Given the description of an element on the screen output the (x, y) to click on. 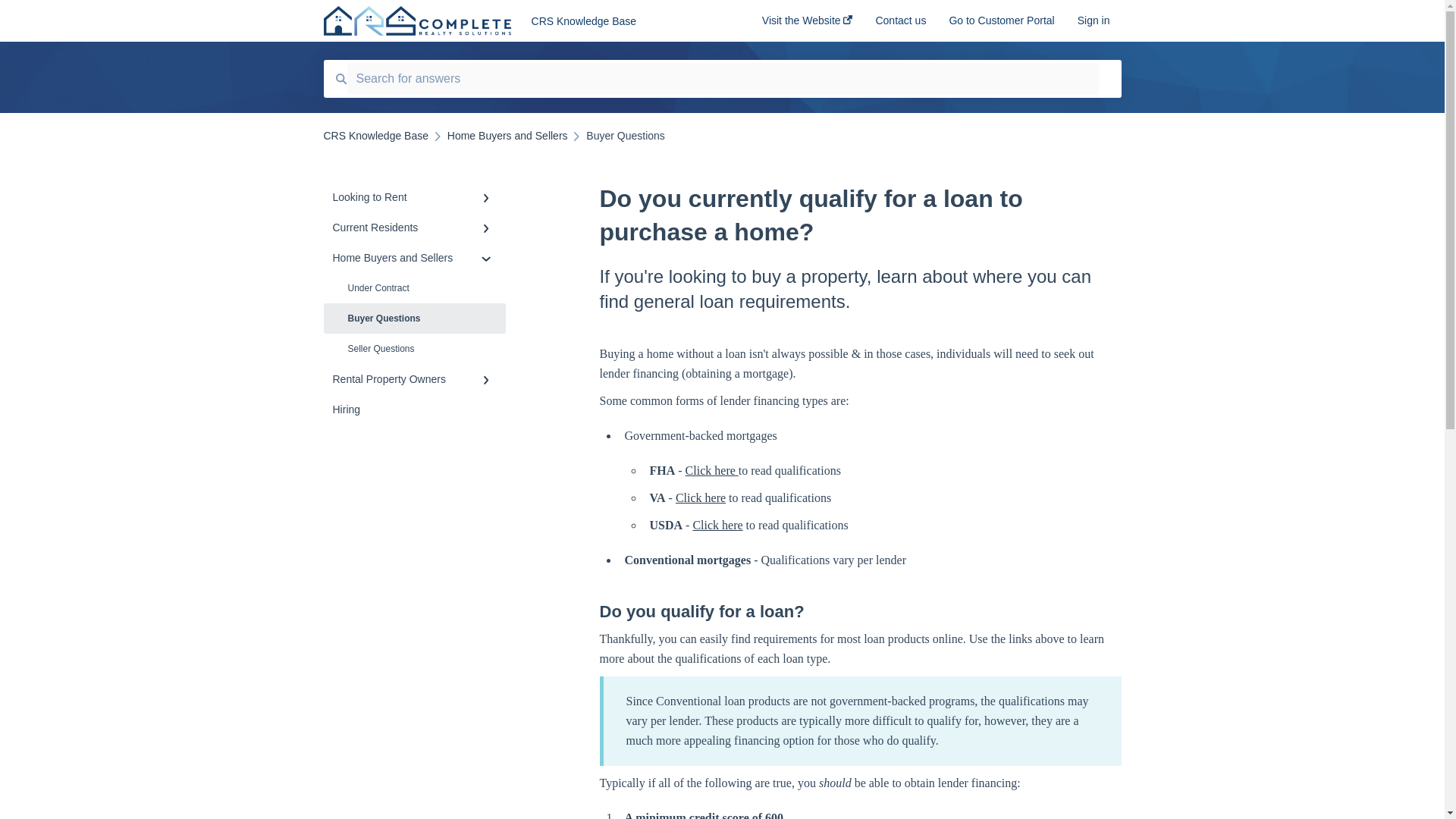
Visit the Website (807, 25)
Home Buyers and Sellers (506, 135)
CRS Knowledge Base (375, 135)
Looking to Rent (414, 196)
Go to Customer Portal (1001, 25)
CRS Knowledge Base (623, 21)
Contact us (900, 25)
